Given the description of an element on the screen output the (x, y) to click on. 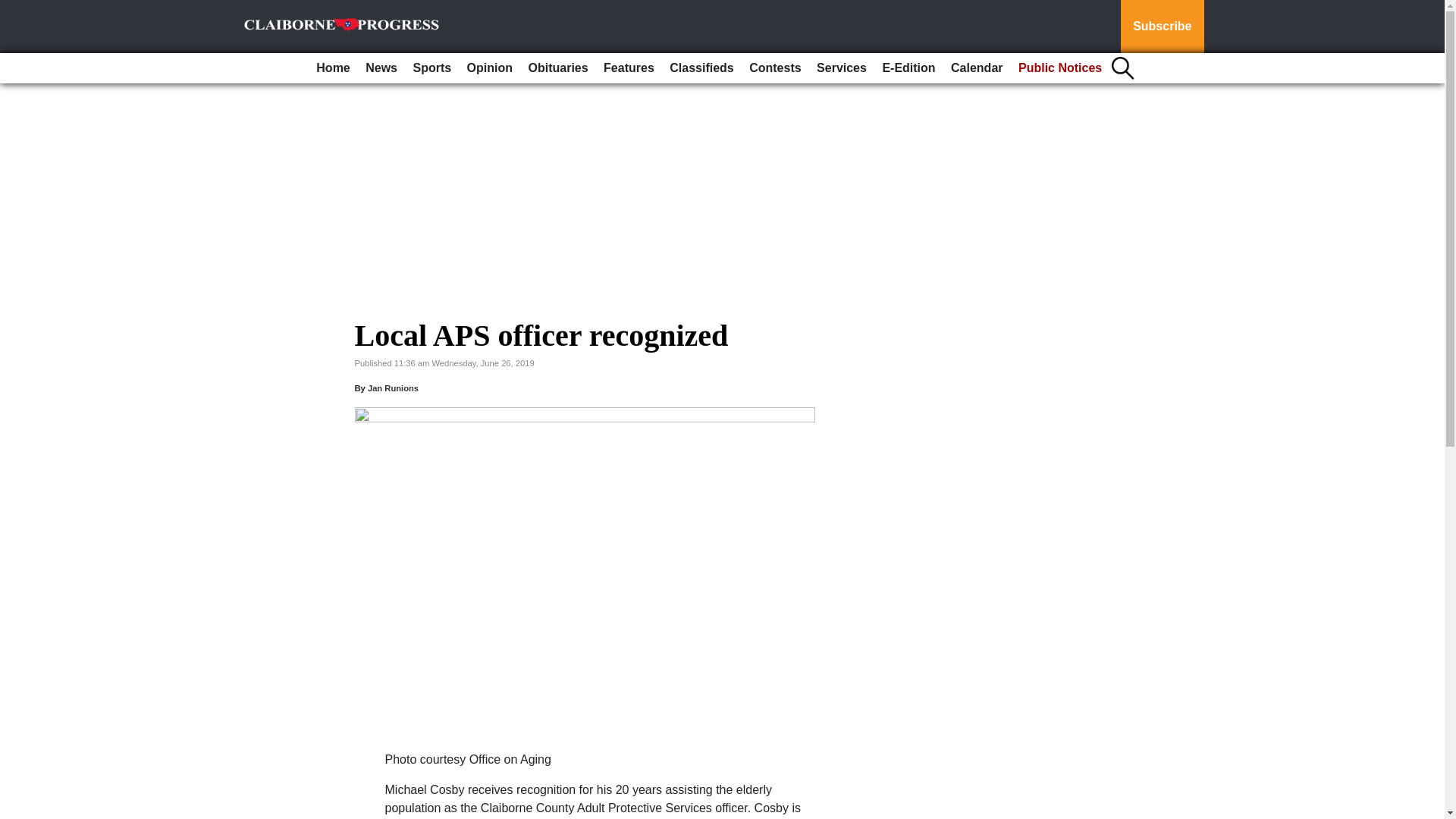
Classifieds (701, 68)
Calendar (976, 68)
Home (332, 68)
E-Edition (908, 68)
Opinion (489, 68)
Services (841, 68)
Contests (774, 68)
Features (628, 68)
News (381, 68)
Go (13, 9)
Obituaries (557, 68)
Sports (431, 68)
Public Notices (1059, 68)
Subscribe (1162, 26)
Jan Runions (393, 388)
